Given the description of an element on the screen output the (x, y) to click on. 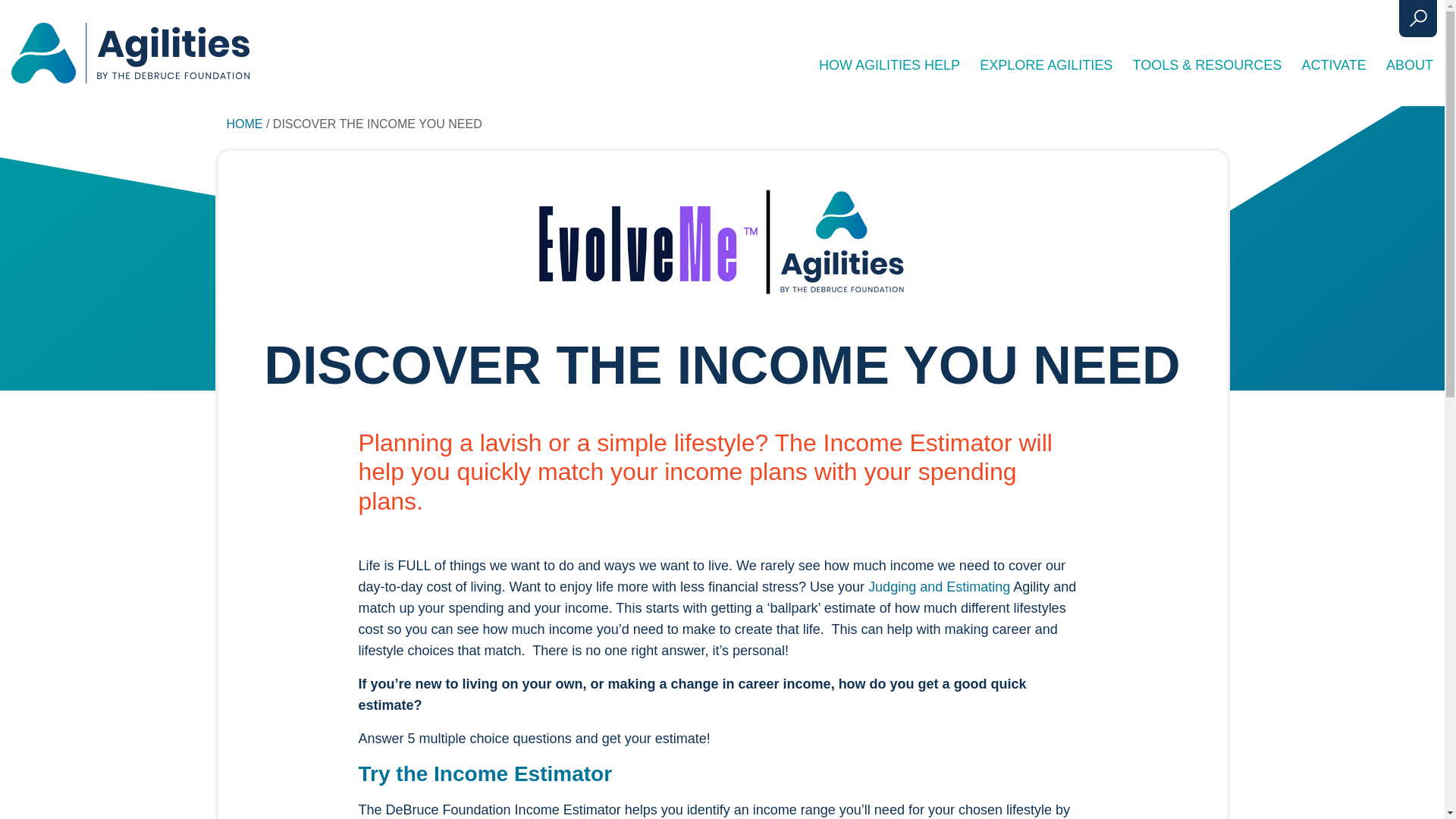
ABOUT (1409, 64)
EXPLORE AGILITIES (1045, 64)
ACTIVATE (1333, 64)
HOW AGILITIES HELP (888, 64)
Try the Income Estimator (484, 773)
Judging and Estimating (938, 586)
HOME (243, 123)
